Given the description of an element on the screen output the (x, y) to click on. 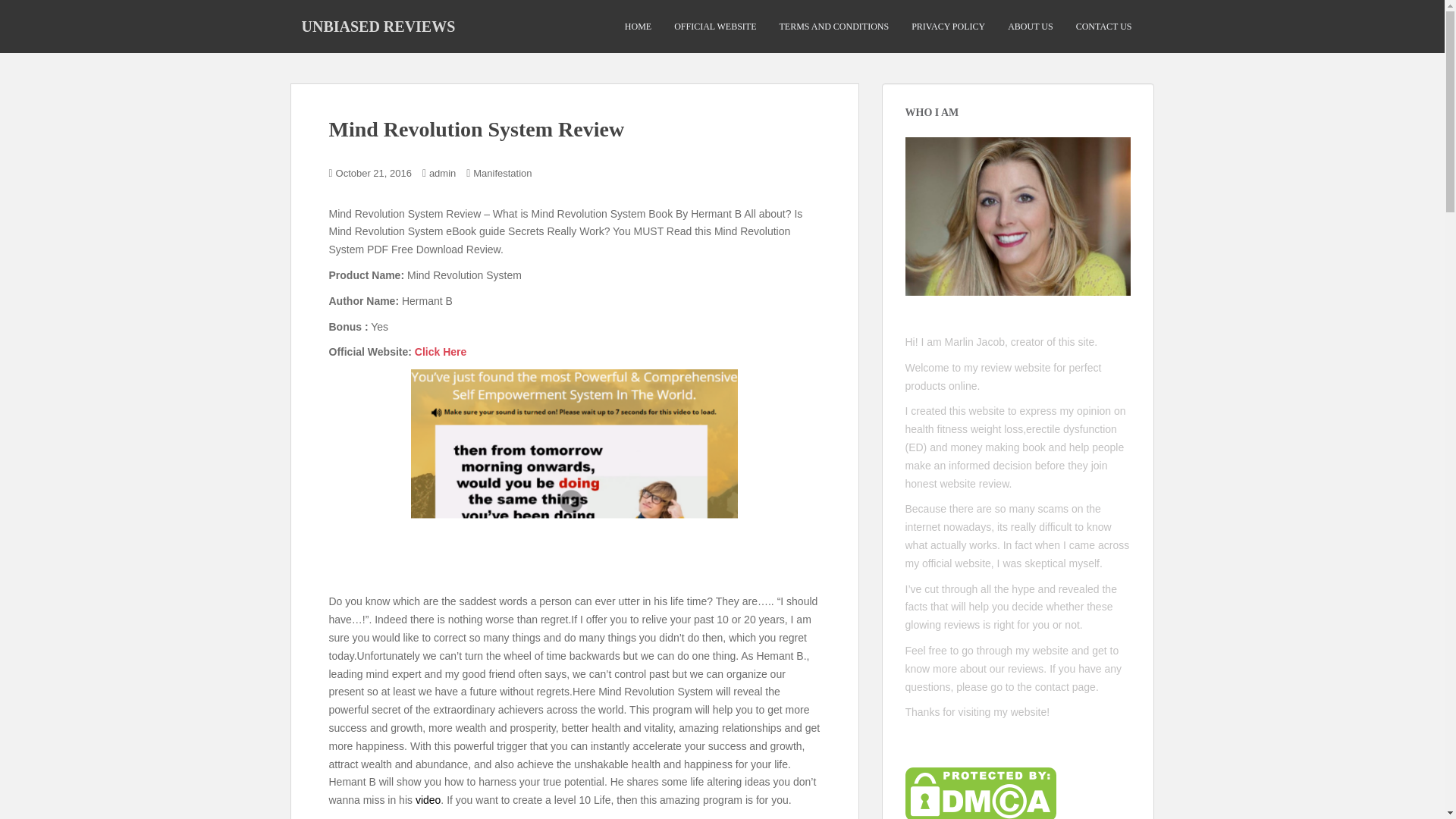
October 21, 2016 (374, 173)
Manifestation (502, 173)
PRIVACY POLICY (948, 26)
DMCA.com Protection Status (981, 793)
UNBIASED REVIEWS (377, 26)
ABOUT US (1029, 26)
CONTACT US (1103, 26)
Click Here (439, 351)
UNBIASED REVIEWS (377, 26)
admin (442, 173)
OFFICIAL WEBSITE (714, 26)
TERMS AND CONDITIONS (833, 26)
